Given the description of an element on the screen output the (x, y) to click on. 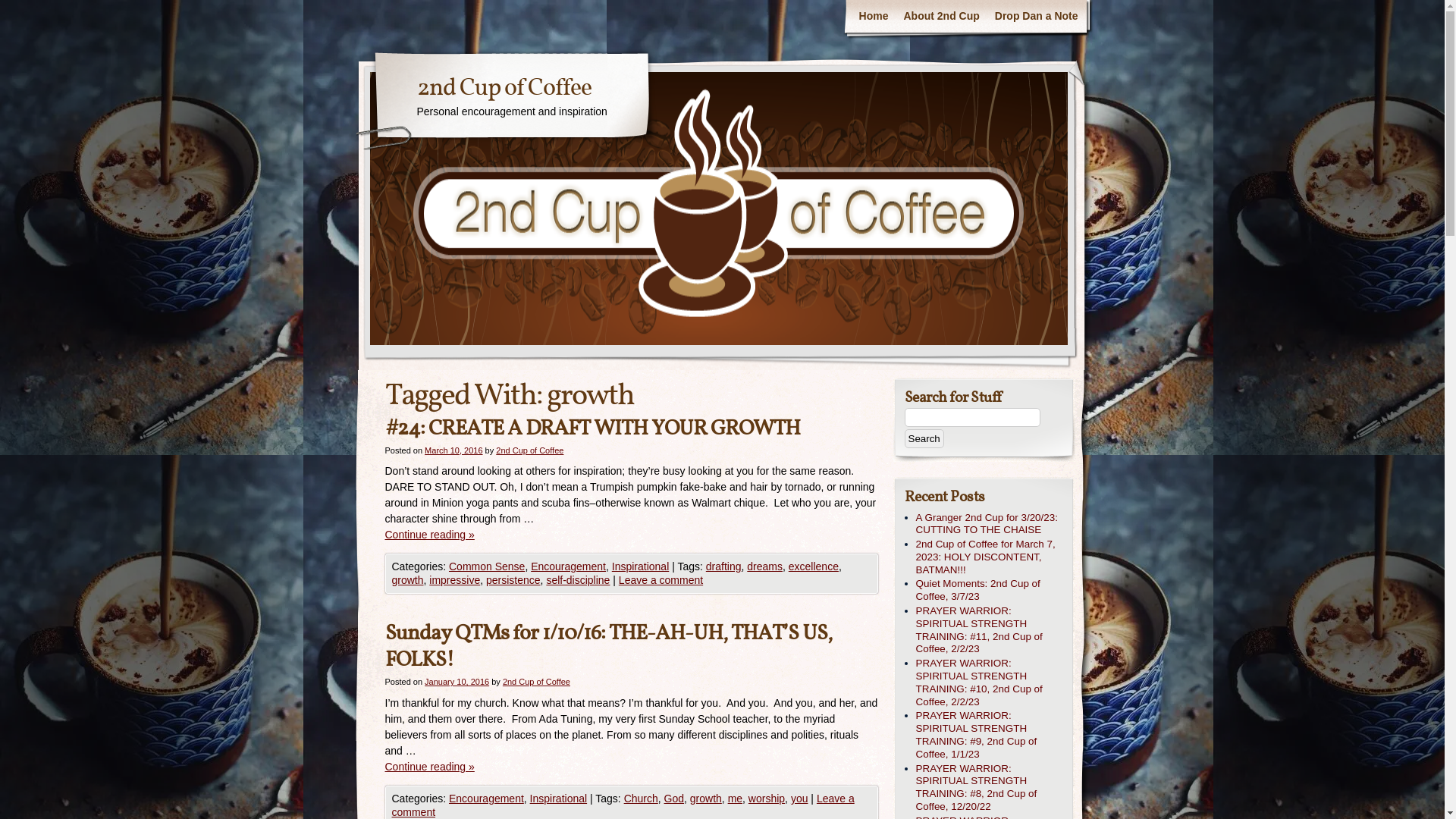
Encouragement Element type: text (567, 566)
Common Sense Element type: text (486, 566)
Search Element type: text (923, 438)
Drop Dan a Note Element type: text (1036, 16)
impressive Element type: text (454, 580)
2nd Cup of Coffee Element type: text (536, 681)
me Element type: text (735, 798)
A Granger 2nd Cup for 3/20/23: CUTTING TO THE CHAISE Element type: text (989, 524)
persistence Element type: text (513, 580)
Inspirational Element type: text (640, 566)
excellence Element type: text (813, 566)
Encouragement Element type: text (486, 798)
Leave a comment Element type: text (622, 805)
self-discipline Element type: text (577, 580)
you Element type: text (799, 798)
worship Element type: text (766, 798)
growth Element type: text (705, 798)
Inspirational Element type: text (558, 798)
drafting Element type: text (723, 566)
God Element type: text (674, 798)
January 10, 2016 Element type: text (456, 681)
growth Element type: text (407, 580)
2nd Cup of Coffee Element type: text (504, 88)
Church Element type: text (641, 798)
About 2nd Cup Element type: text (941, 16)
dreams Element type: text (764, 566)
2nd Cup of Coffee Element type: text (529, 450)
Home Element type: text (873, 16)
March 10, 2016 Element type: text (453, 450)
Quiet Moments: 2nd Cup of Coffee, 3/7/23 Element type: text (989, 590)
#24: CREATE A DRAFT WITH YOUR GROWTH Element type: text (592, 428)
Leave a comment Element type: text (660, 580)
